Given the description of an element on the screen output the (x, y) to click on. 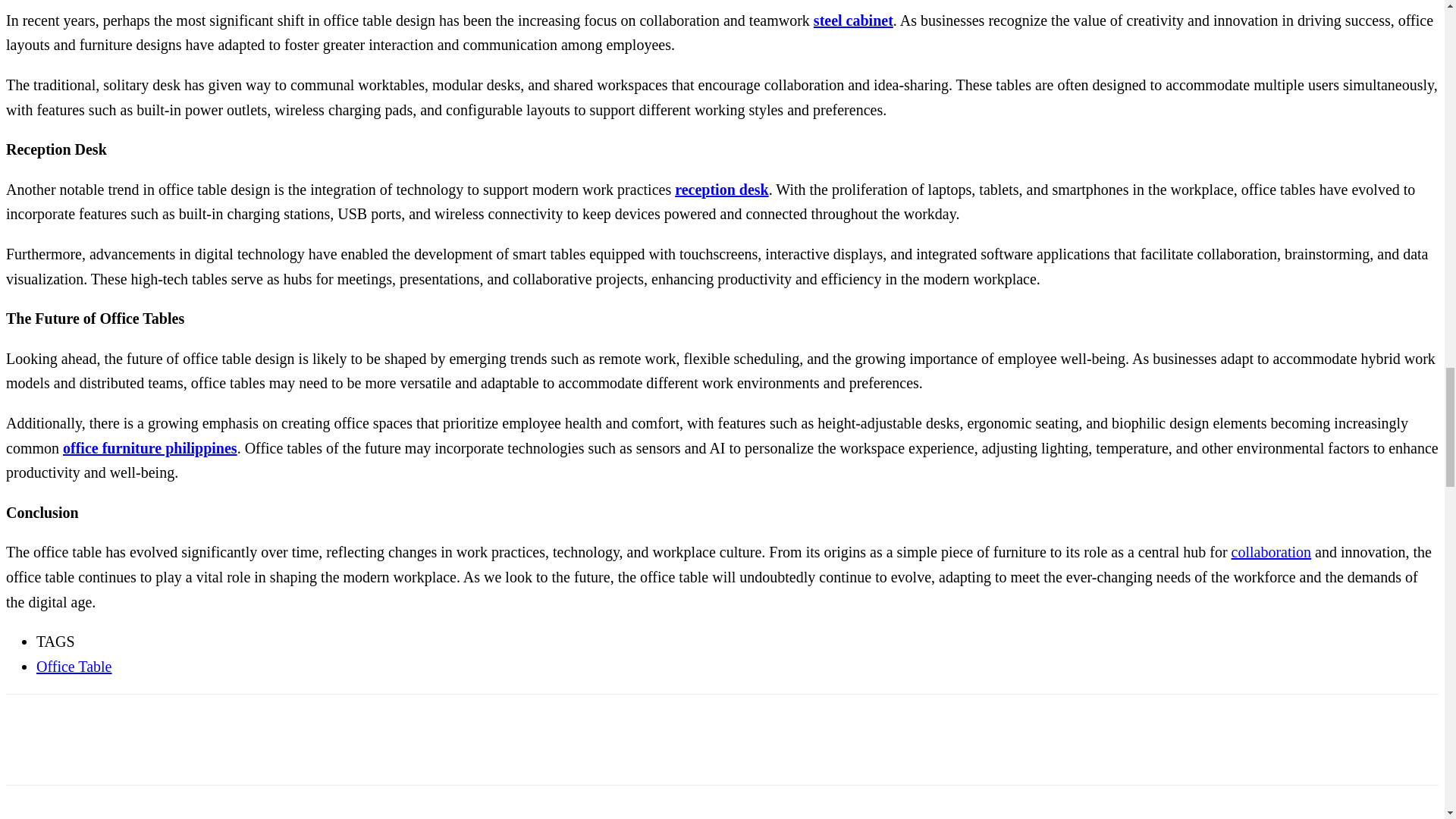
bottomFacebookLike (118, 719)
